Given the description of an element on the screen output the (x, y) to click on. 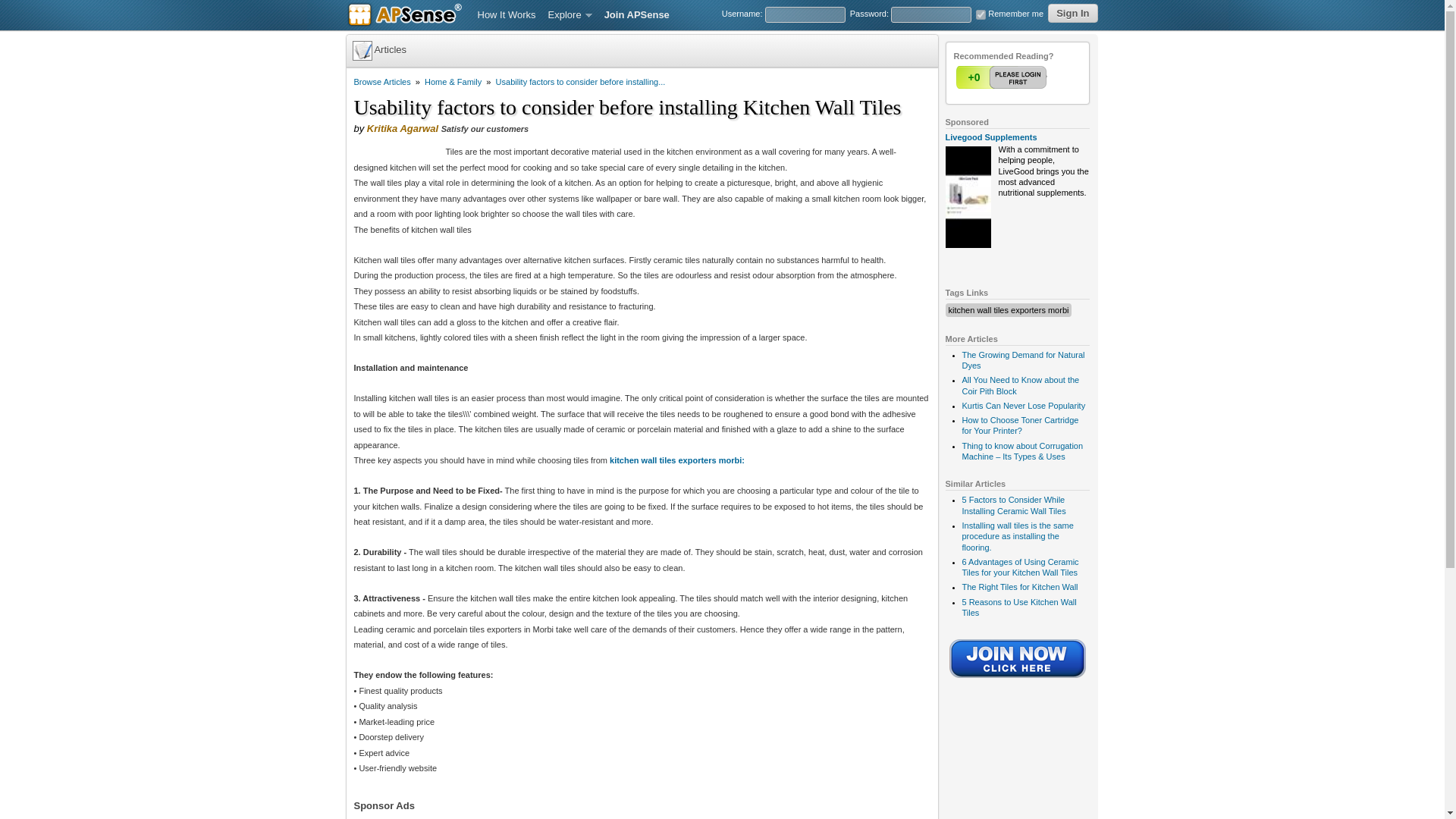
Sign In (1072, 13)
Votes Up (973, 77)
How It Works (506, 15)
All You Need to Know about the Coir Pith Block (1019, 384)
Vote Up (1002, 77)
-1 (1031, 77)
The Right Tiles for Kitchen Wall (1018, 586)
How to Choose Toner Cartridge for Your Printer? (1019, 424)
All You Need to Know about the Coir Pith Block (1019, 384)
